Given the description of an element on the screen output the (x, y) to click on. 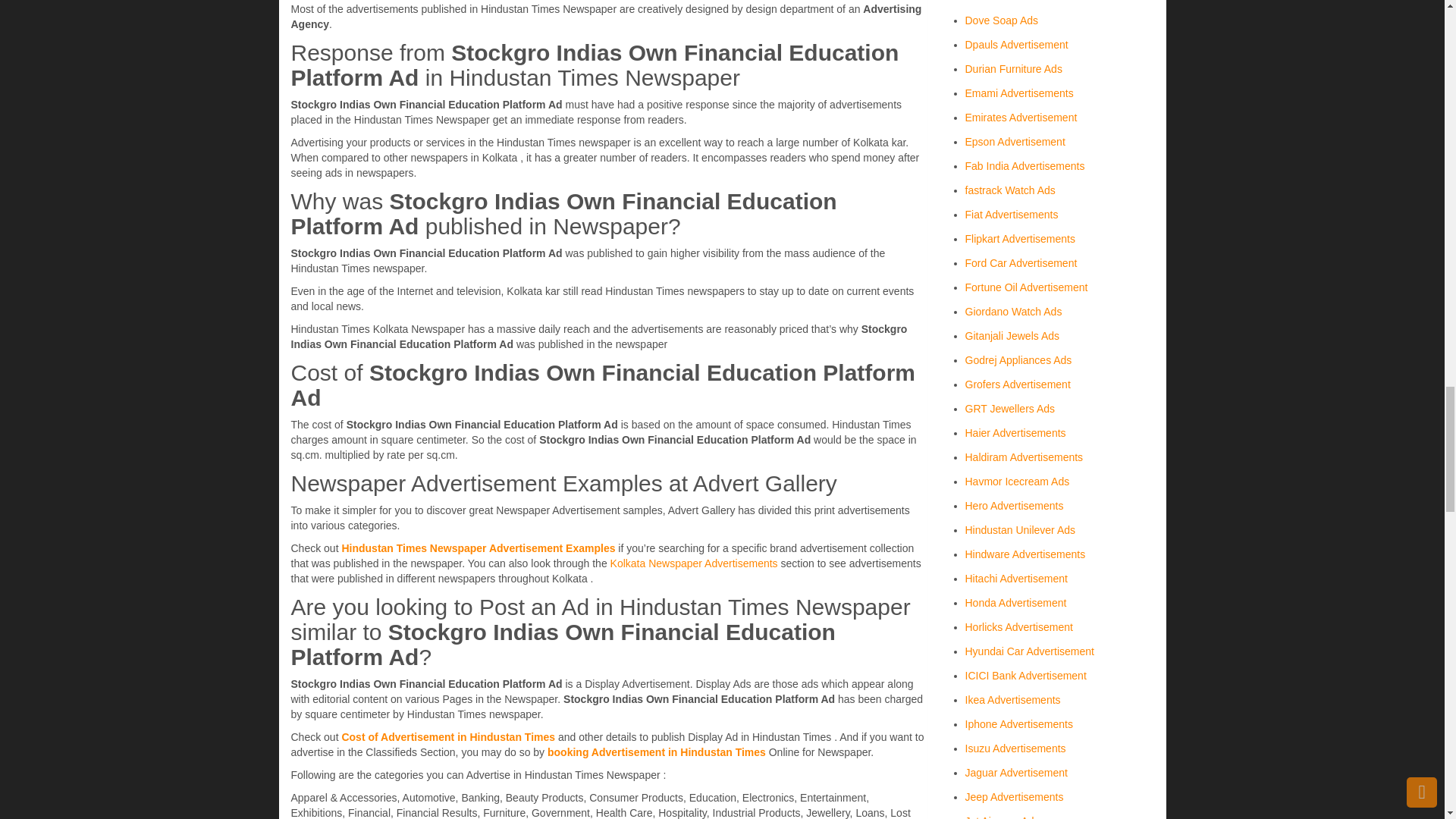
Hindustan Times Newspaper Advertisement Examples (477, 548)
Cost of Advertisement in Hindustan Times (448, 736)
booking Advertisement in Hindustan Times (657, 752)
Kolkata Newspaper Advertisements (693, 563)
